Given the description of an element on the screen output the (x, y) to click on. 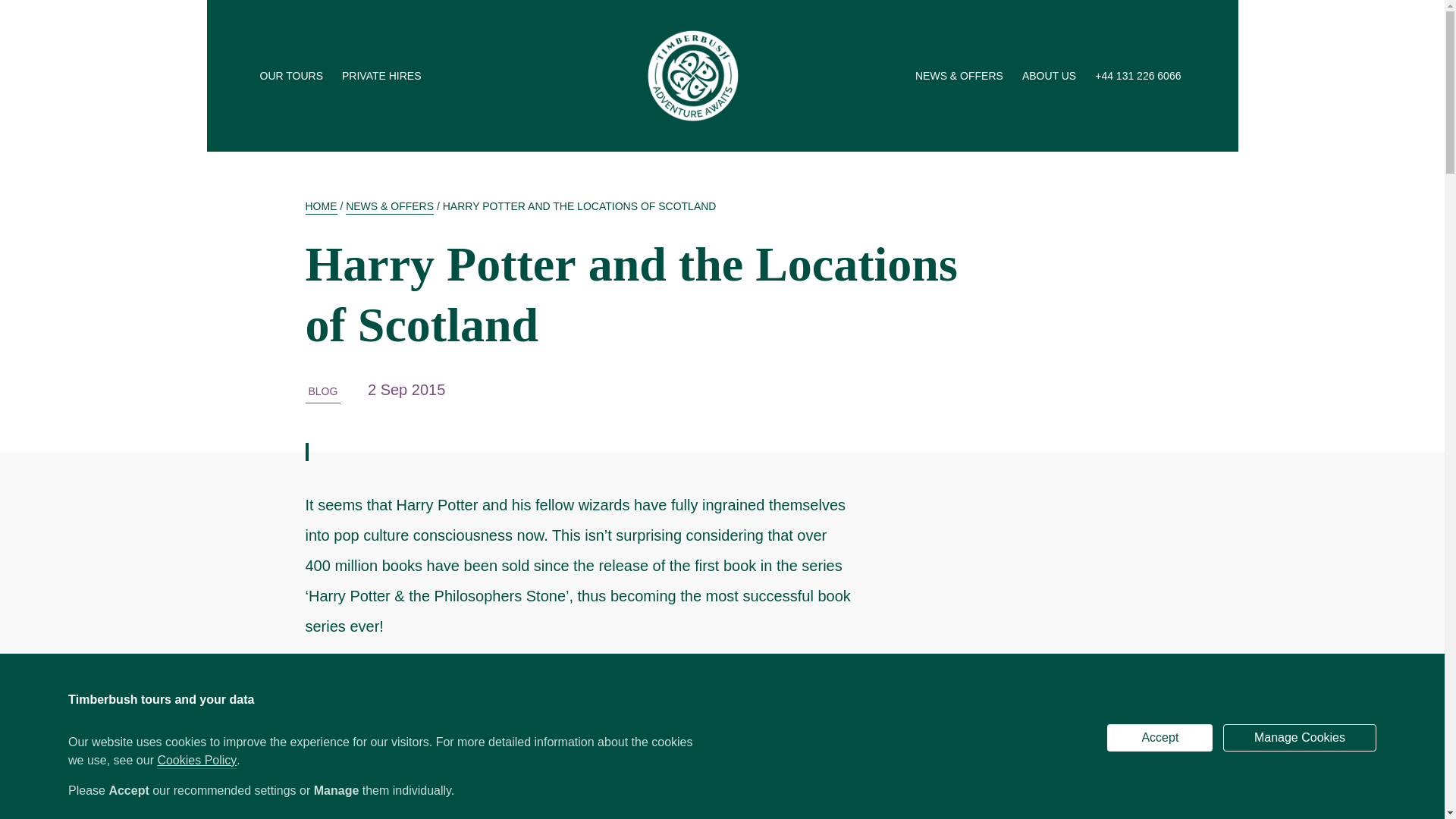
OUR TOURS (292, 75)
PRIVATE HIRES (383, 75)
Cookie Control (16, 803)
ABOUT US (1050, 75)
